Given the description of an element on the screen output the (x, y) to click on. 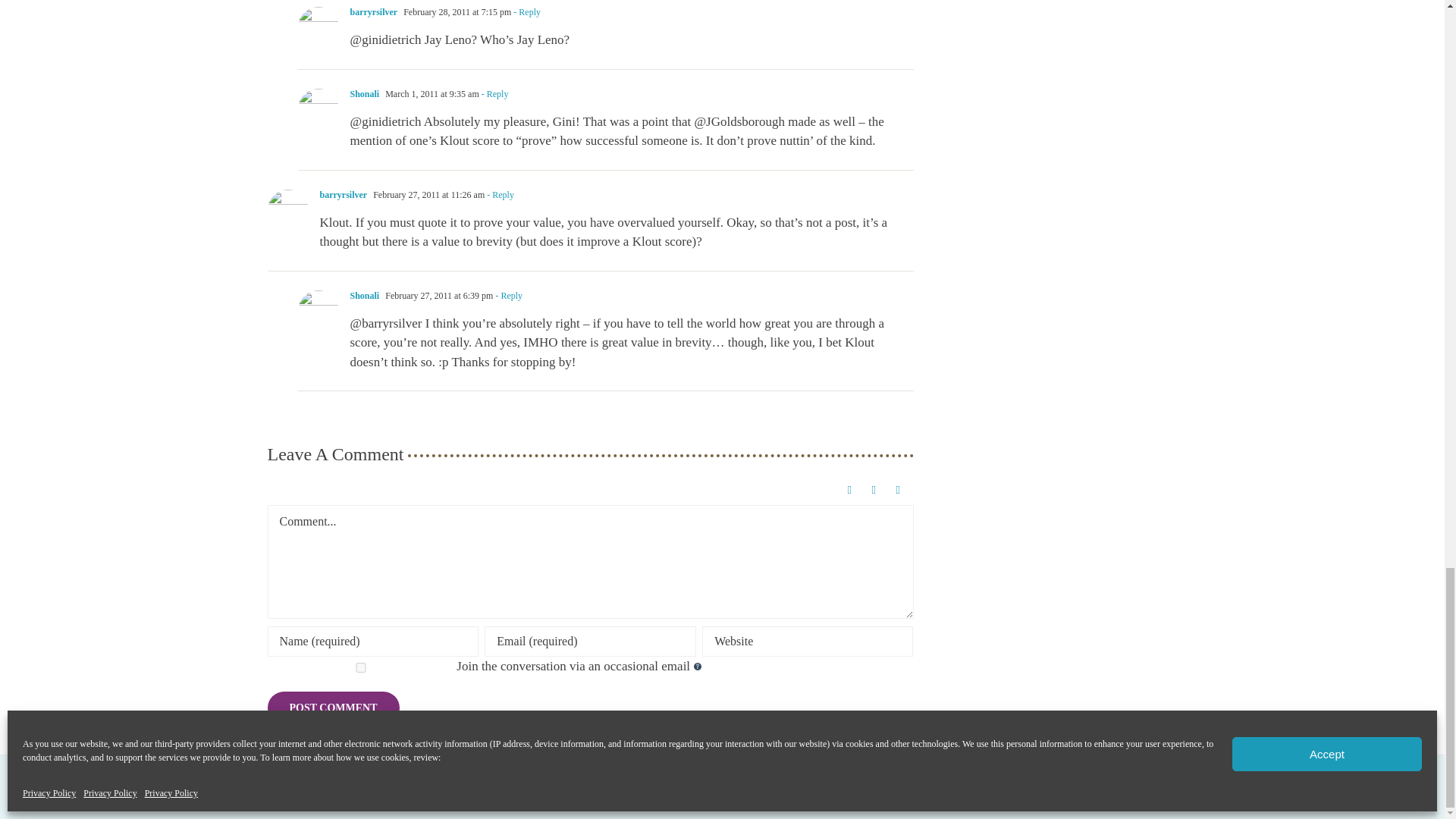
Post Comment (332, 707)
Comment via Facebook (900, 490)
Comment via WordPress.com (852, 490)
1 (360, 667)
Facebook (1275, 790)
Comment via Twitter (877, 490)
